Given the description of an element on the screen output the (x, y) to click on. 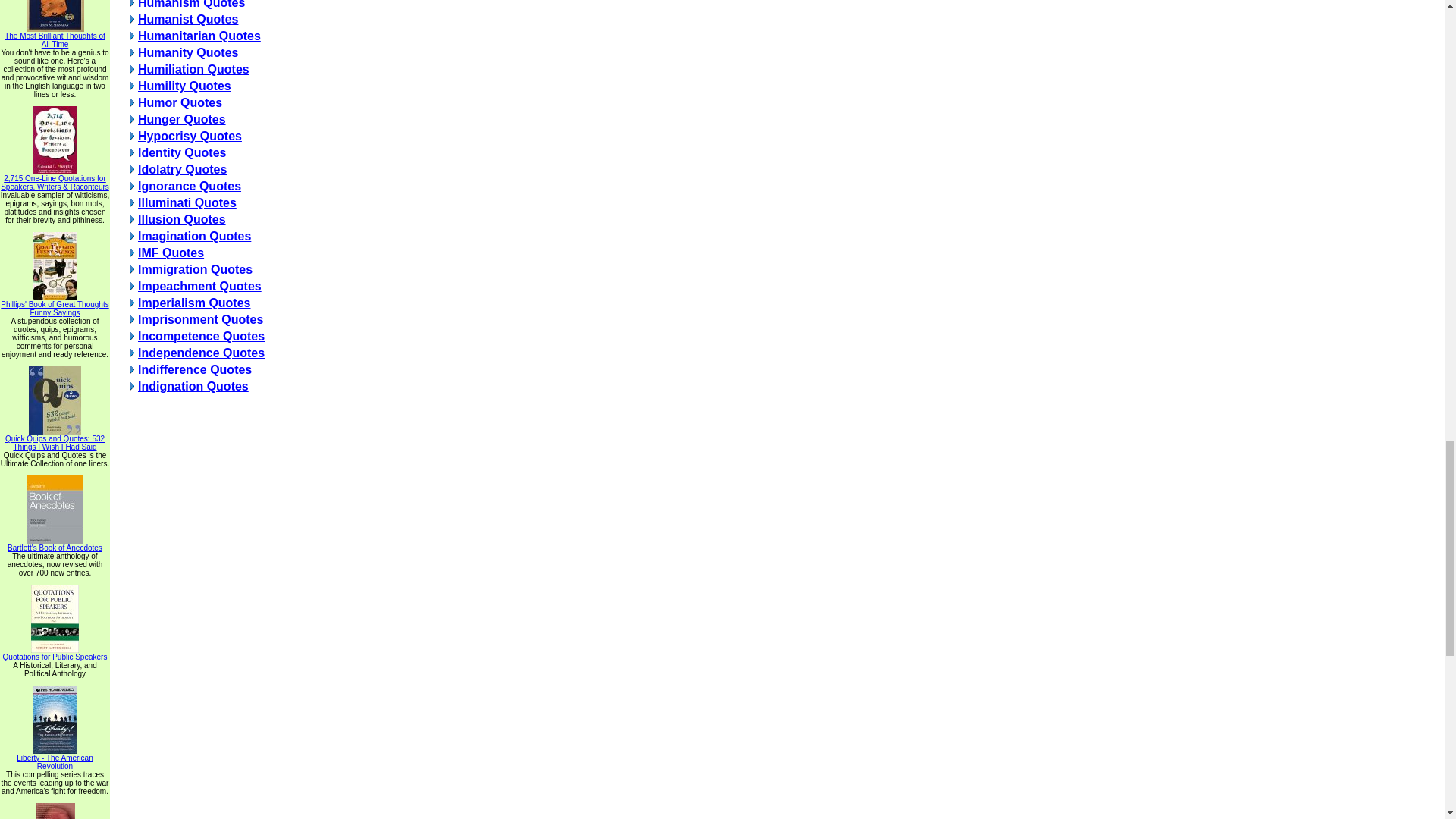
Bartlett's Book of Anecdotes (54, 544)
The Most Brilliant Thoughts of All Time (54, 36)
Liberty - The American Revolution (54, 758)
Quotations for Public Speakers (54, 653)
Quick Quips and Quotes; 532 Things I Wish I Had Said (54, 439)
Phillips' Book of Great Thoughts Funny Sayings (54, 304)
